Given the description of an element on the screen output the (x, y) to click on. 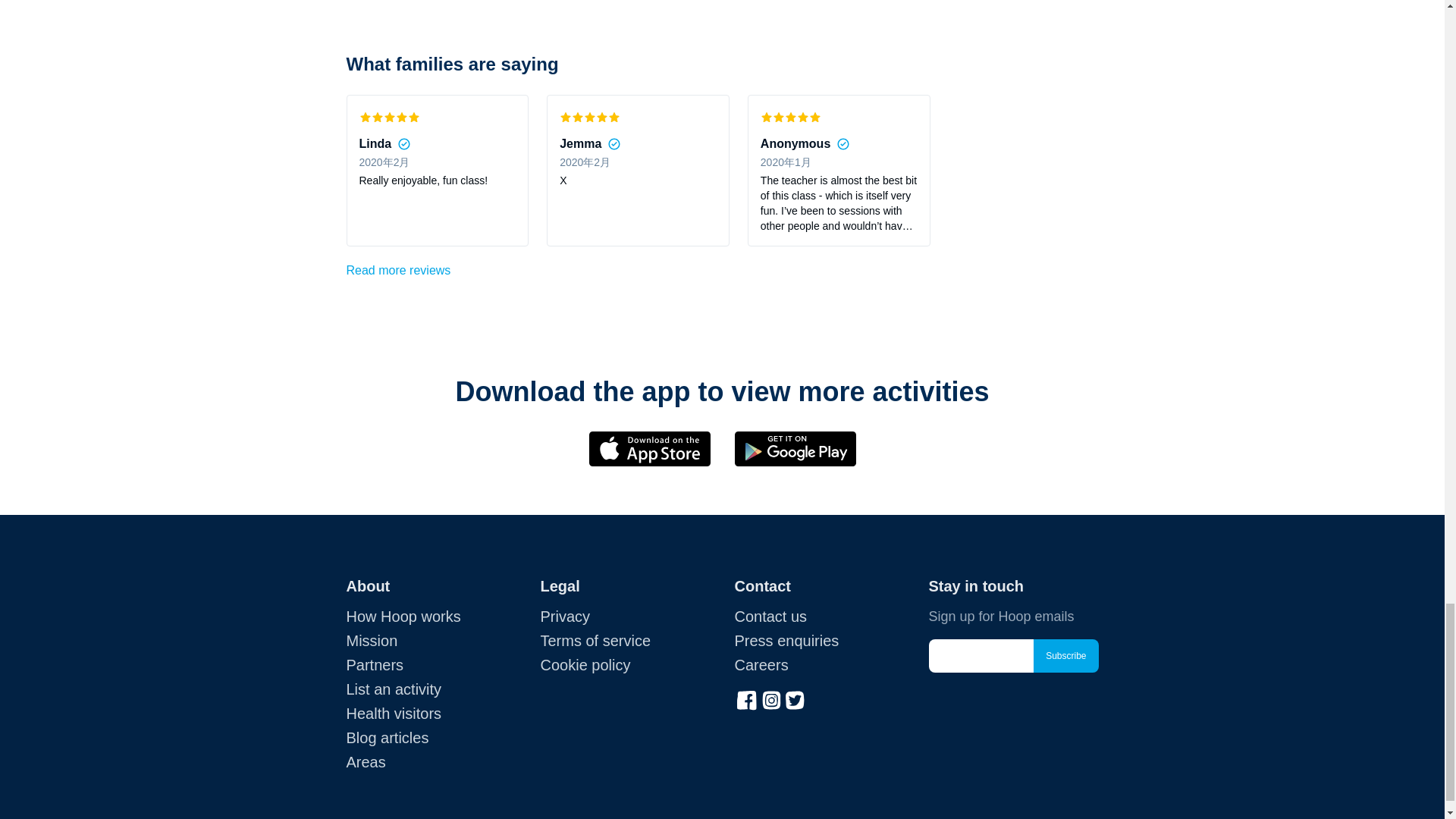
Contact us (769, 616)
Twitter (794, 698)
Areas (365, 761)
Cookie policy (585, 664)
Mission (371, 640)
Read more reviews (397, 270)
Press enquiries (785, 640)
List an activity (393, 688)
Terms of service (595, 640)
How Hoop works (403, 616)
Facebook (745, 698)
Blog articles (387, 737)
Health visitors (393, 713)
Privacy (564, 616)
Partners (374, 664)
